Given the description of an element on the screen output the (x, y) to click on. 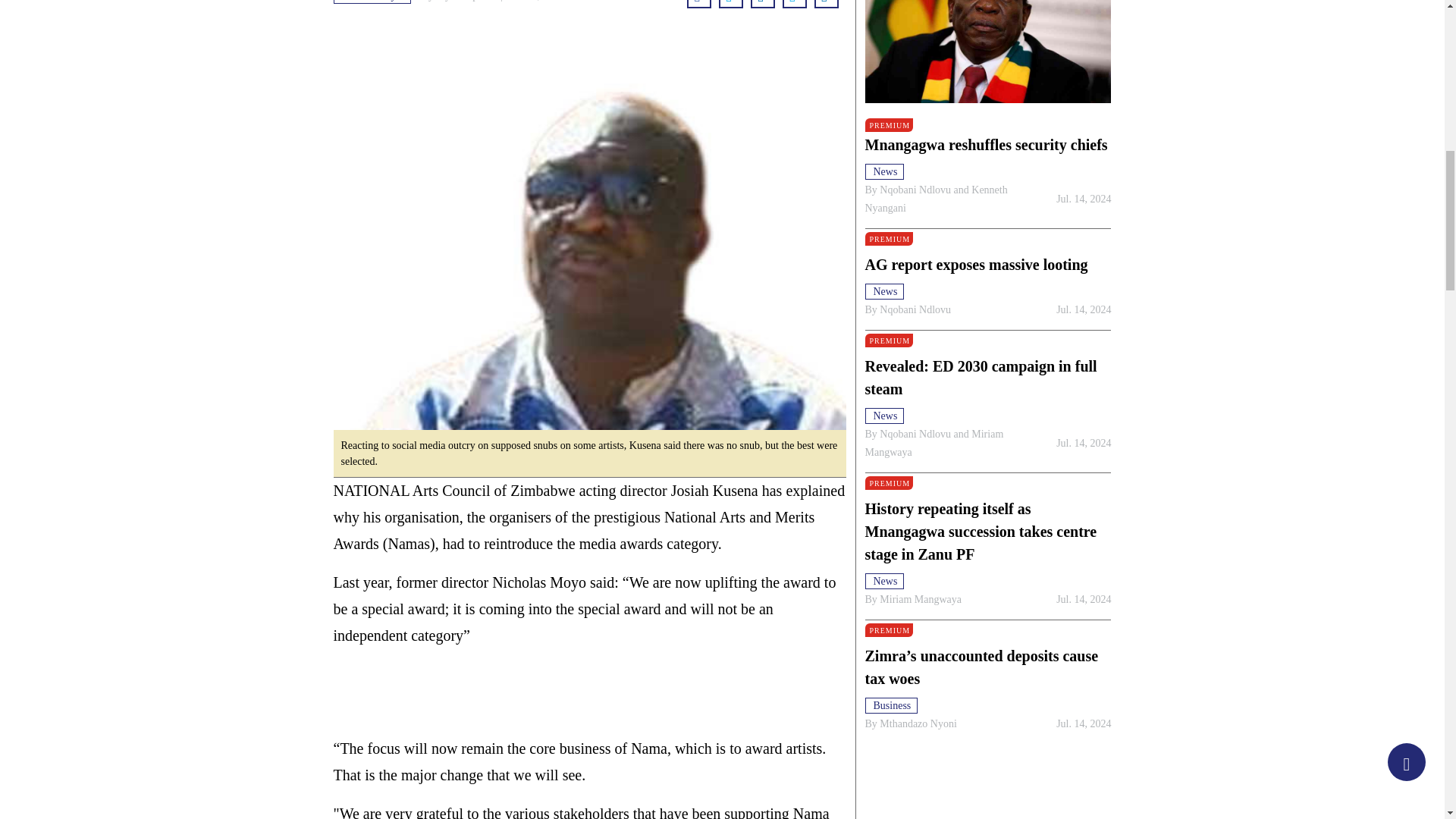
3rd party ad content (589, 692)
